Given the description of an element on the screen output the (x, y) to click on. 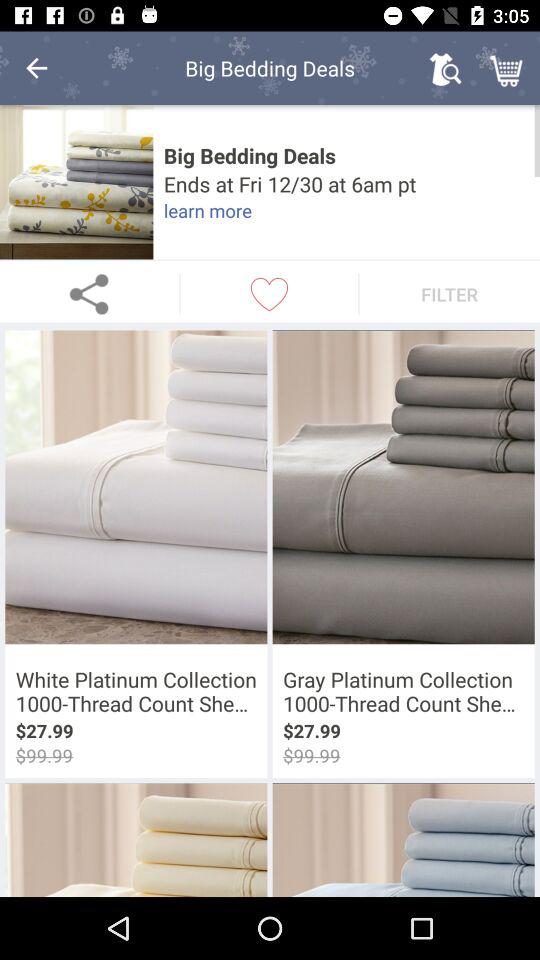
share the entry (89, 294)
